Given the description of an element on the screen output the (x, y) to click on. 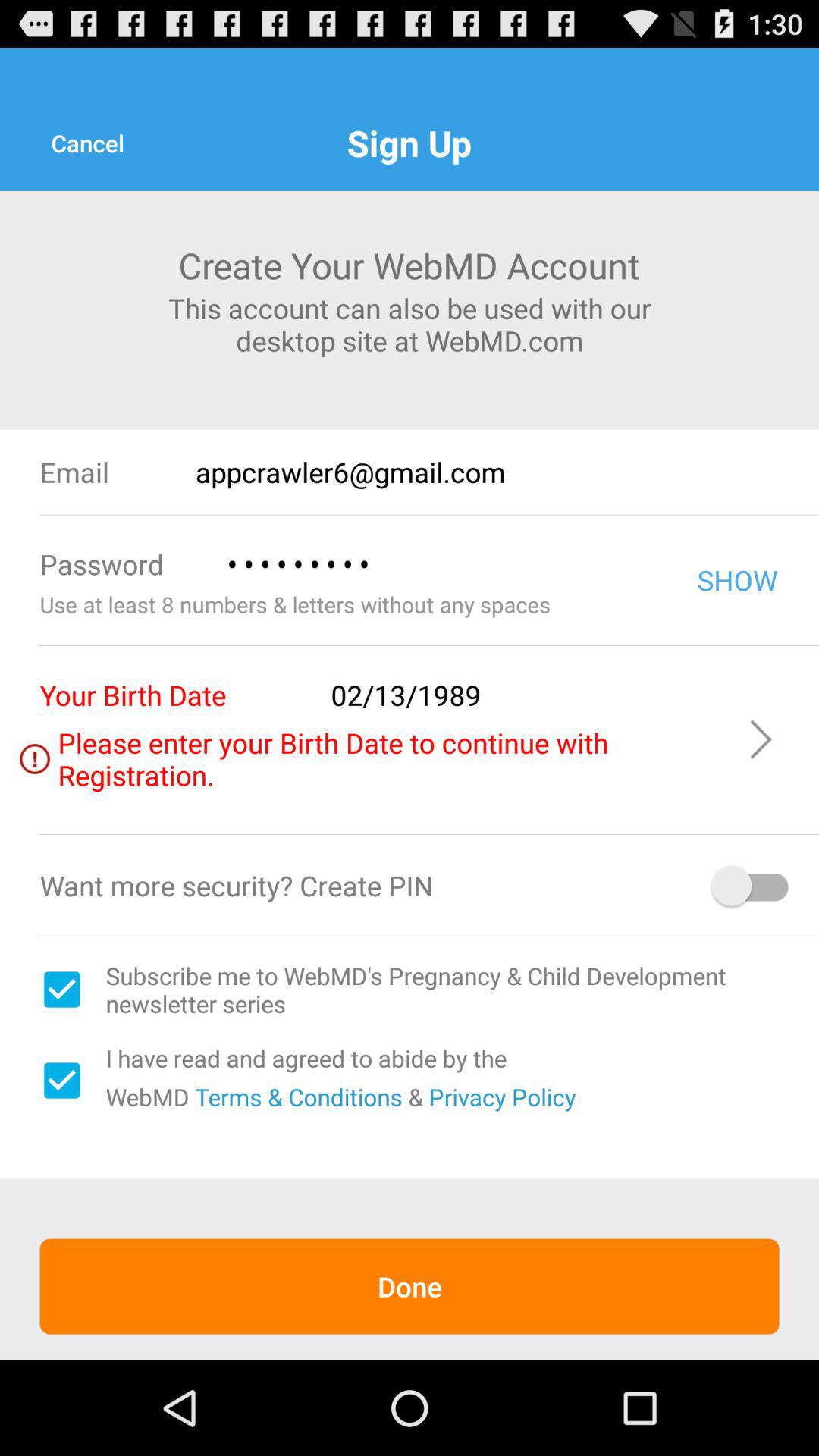
turn off icon next to the webmd icon (295, 1096)
